Given the description of an element on the screen output the (x, y) to click on. 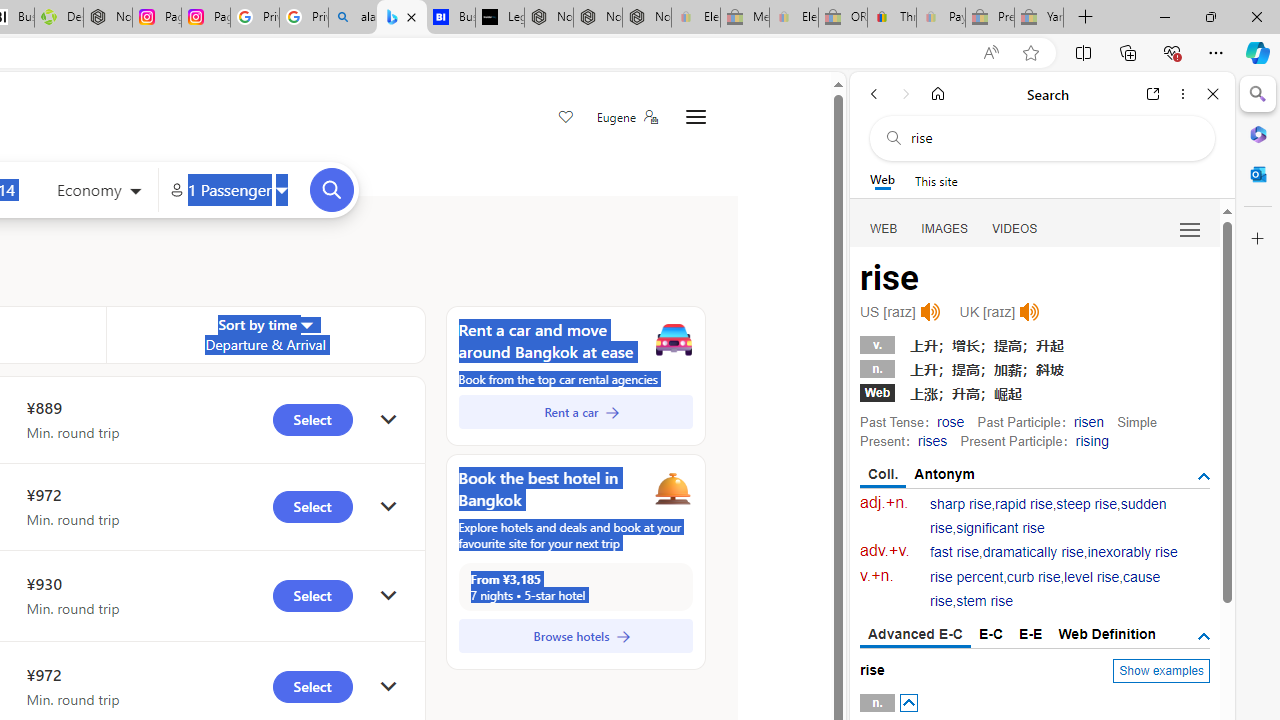
1 Passenger (228, 189)
Save (565, 118)
Click to listen (1029, 312)
rapid rise (1023, 503)
click to get details (388, 687)
Browse hotels (575, 636)
E-C (991, 633)
rose (950, 421)
